Given the description of an element on the screen output the (x, y) to click on. 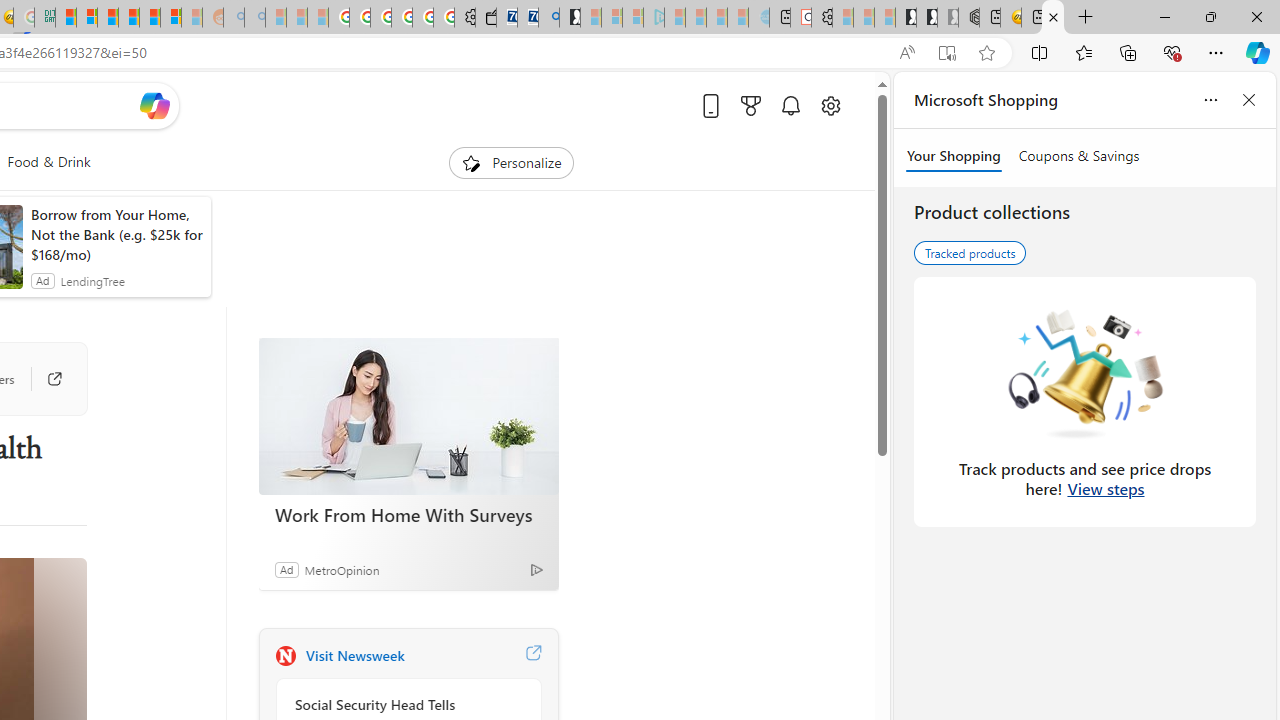
Ad (286, 569)
Microsoft Start Gaming (569, 17)
Nordace - Nordace Siena Is Not An Ordinary Backpack (968, 17)
Work From Home With Surveys (408, 416)
Borrow from Your Home, Not the Bank (e.g. $25k for $168/mo) (116, 234)
New tab (1031, 17)
Favorites (1083, 52)
Split screen (1039, 52)
To get missing image descriptions, open the context menu. (471, 162)
